Given the description of an element on the screen output the (x, y) to click on. 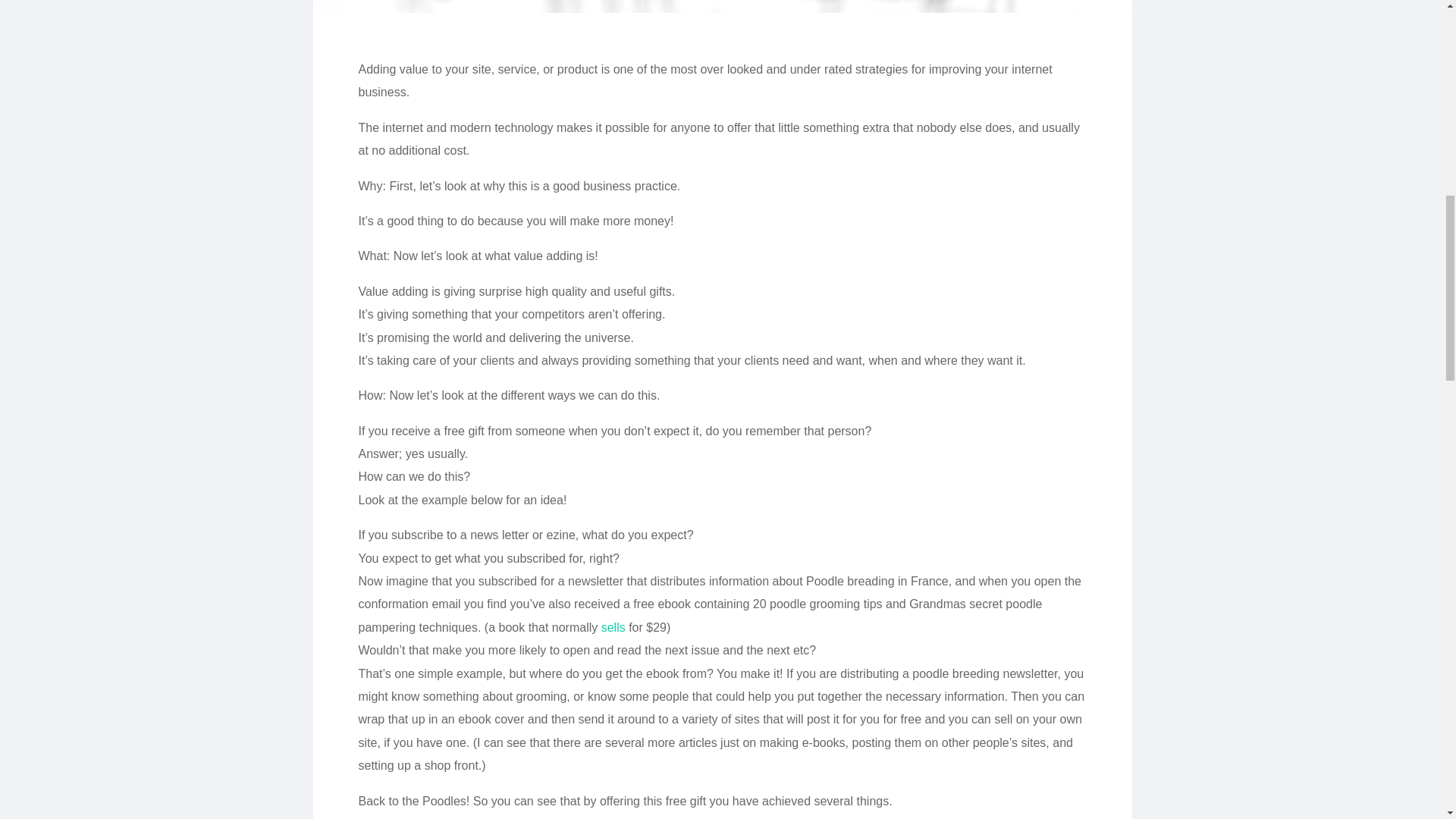
Dare To Be Different! (722, 6)
Why It Seems So Hard to Get Hired for Your Services! (613, 626)
sells (613, 626)
